Given the description of an element on the screen output the (x, y) to click on. 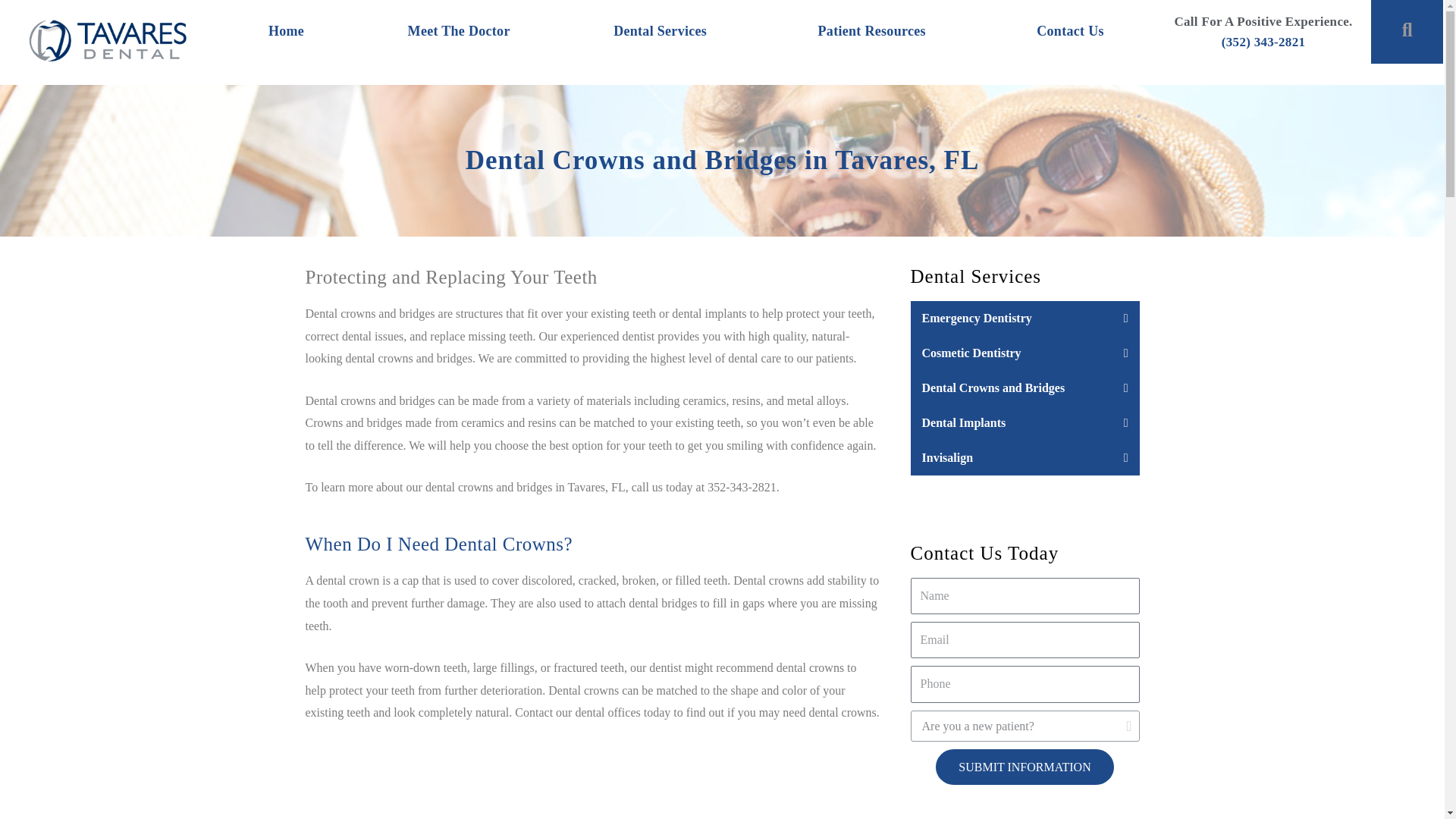
Patient Resources (875, 31)
Dental Crowns and Bridges (993, 387)
Cosmetic Dentistry (971, 352)
Contact Us (1070, 31)
Meet The Doctor (458, 31)
Dental Services (663, 31)
Home (286, 31)
Emergency Dentistry (976, 318)
